Given the description of an element on the screen output the (x, y) to click on. 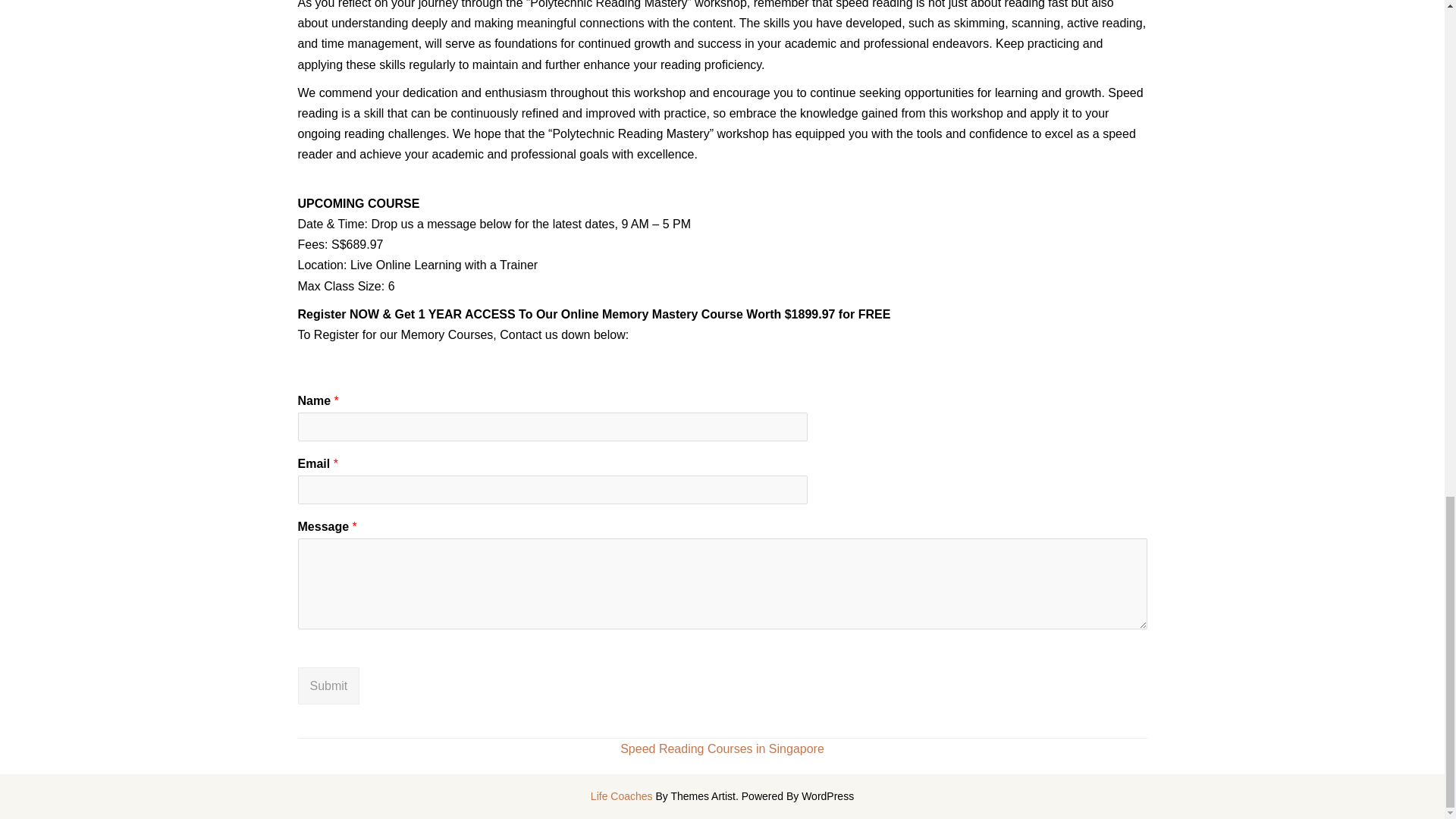
Speed Reading Courses in Singapore (722, 748)
Life Coaches (621, 796)
Submit (328, 684)
